Given the description of an element on the screen output the (x, y) to click on. 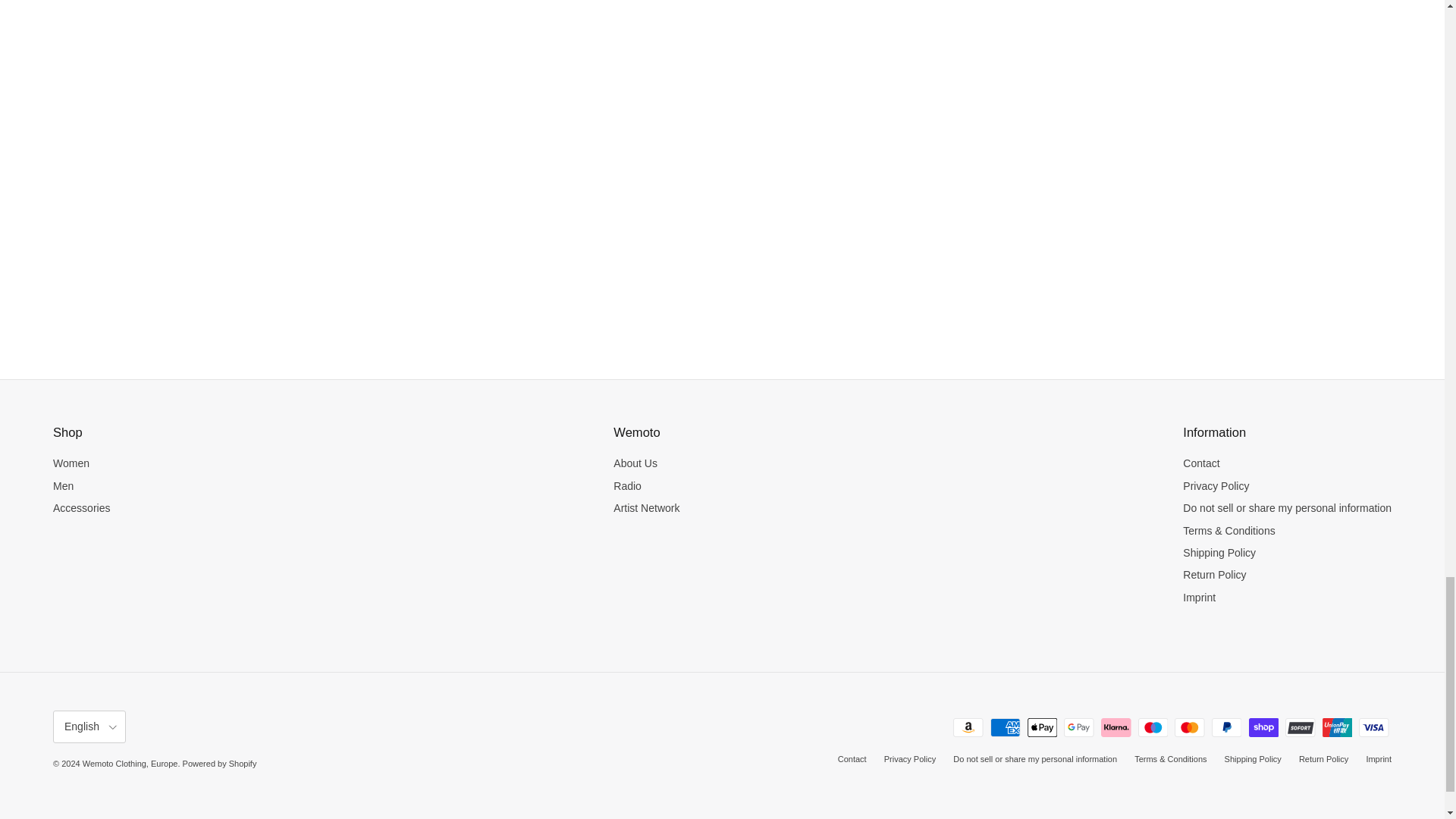
SOFORT (1299, 727)
Mastercard (1189, 727)
Klarna (1115, 727)
PayPal (1226, 727)
Maestro (1152, 727)
Amazon (967, 727)
Apple Pay (1042, 727)
American Express (1005, 727)
Google Pay (1078, 727)
Shop Pay (1262, 727)
